Given the description of an element on the screen output the (x, y) to click on. 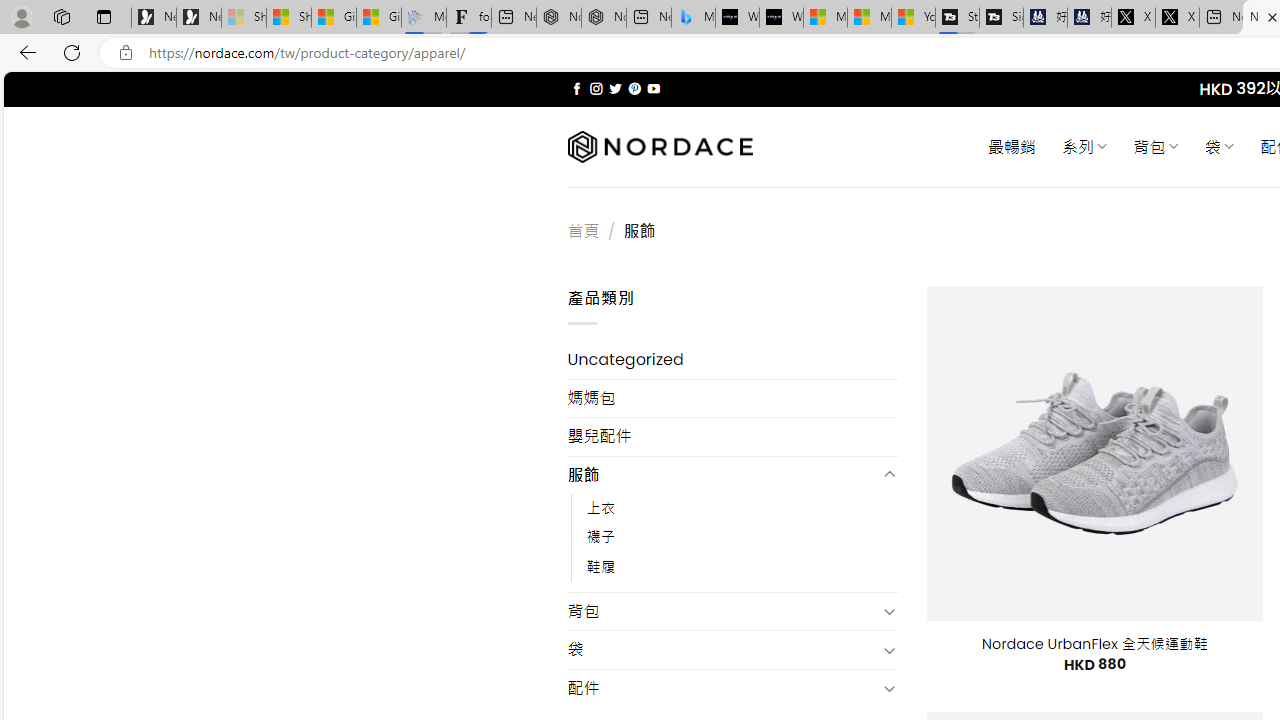
Follow on Facebook (576, 88)
Uncategorized (732, 359)
Microsoft Start (868, 17)
Shanghai, China weather forecast | Microsoft Weather (289, 17)
View site information (125, 53)
